Given the description of an element on the screen output the (x, y) to click on. 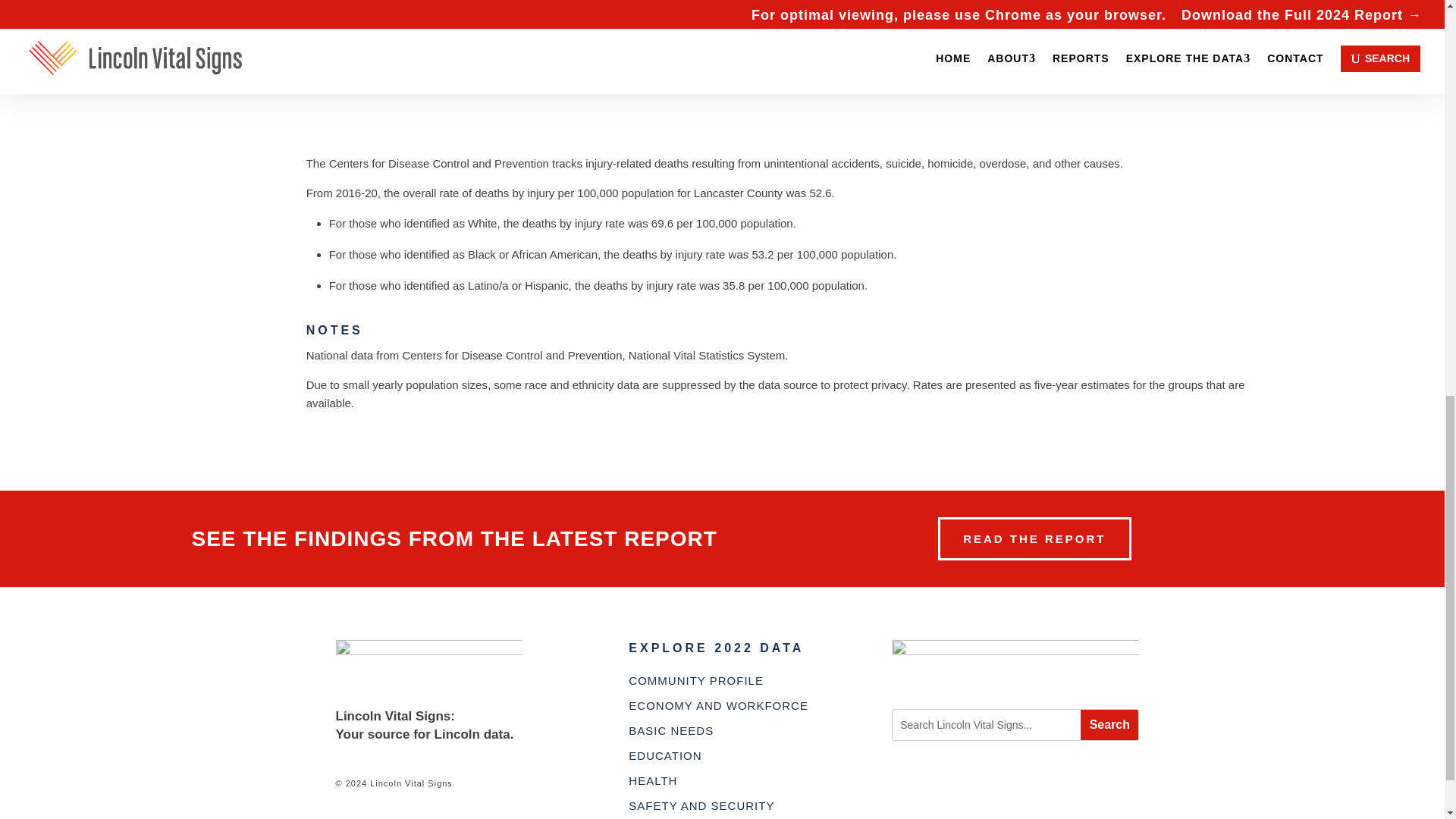
Search (1109, 725)
Search (1109, 725)
